Given the description of an element on the screen output the (x, y) to click on. 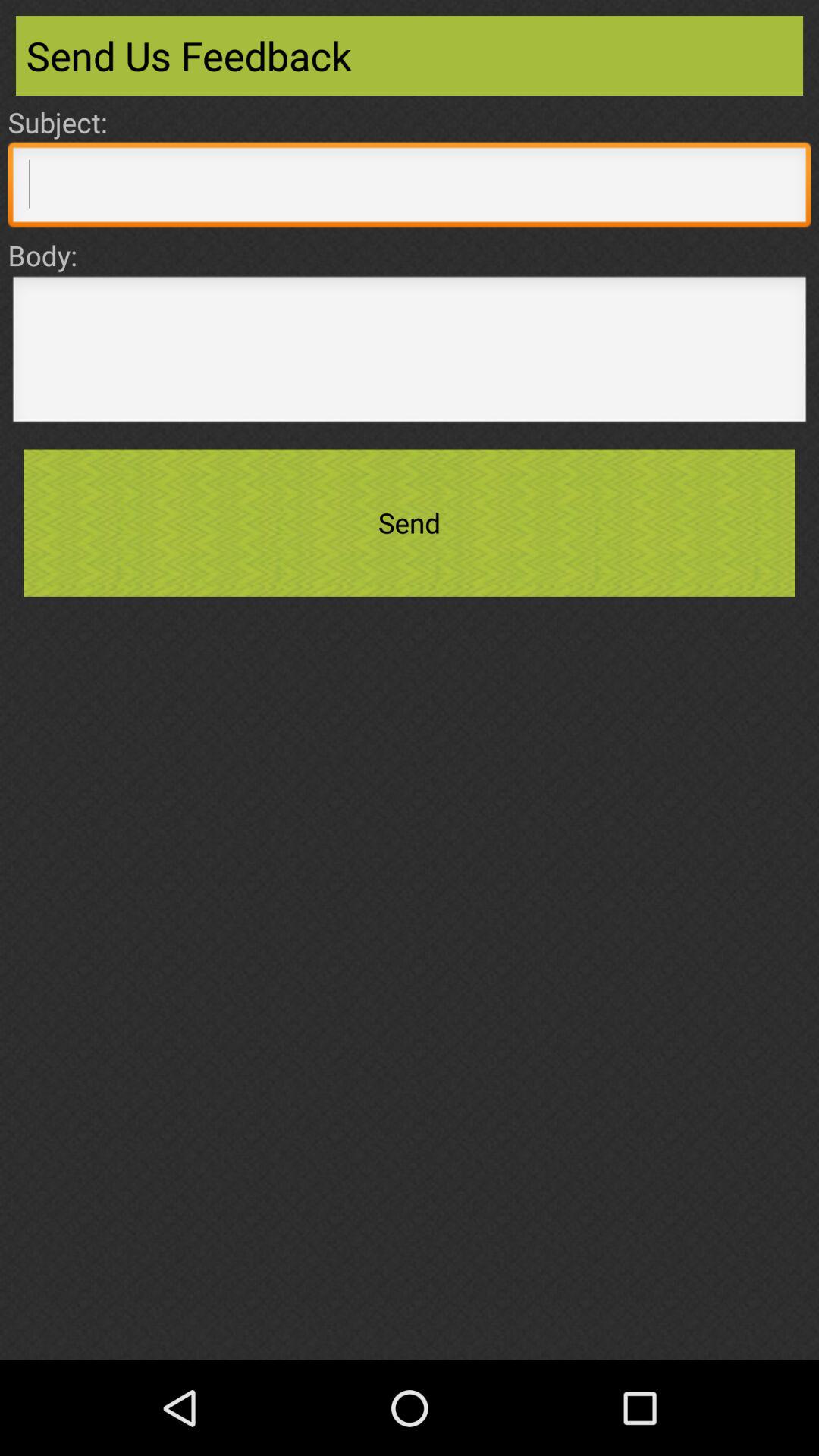
open the icon at the bottom (409, 1310)
